Given the description of an element on the screen output the (x, y) to click on. 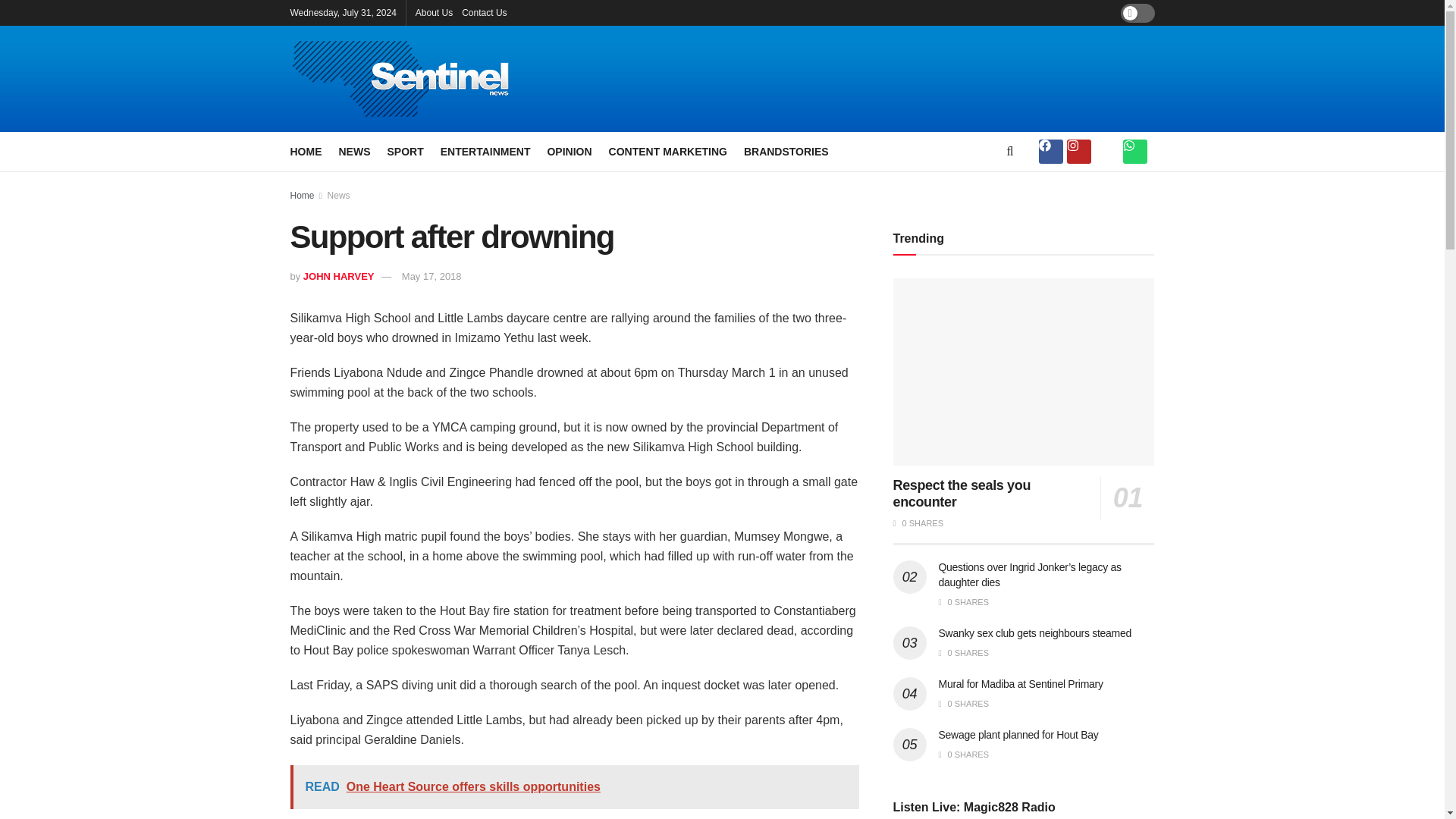
OPINION (569, 151)
Contact Us (483, 12)
BRANDSTORIES (786, 151)
JOHN HARVEY (338, 276)
May 17, 2018 (431, 276)
About Us (433, 12)
SPORT (405, 151)
CONTENT MARKETING (667, 151)
News (338, 195)
READ  One Heart Source offers skills opportunities (574, 786)
NEWS (353, 151)
ENTERTAINMENT (486, 151)
HOME (305, 151)
Home (301, 195)
